Given the description of an element on the screen output the (x, y) to click on. 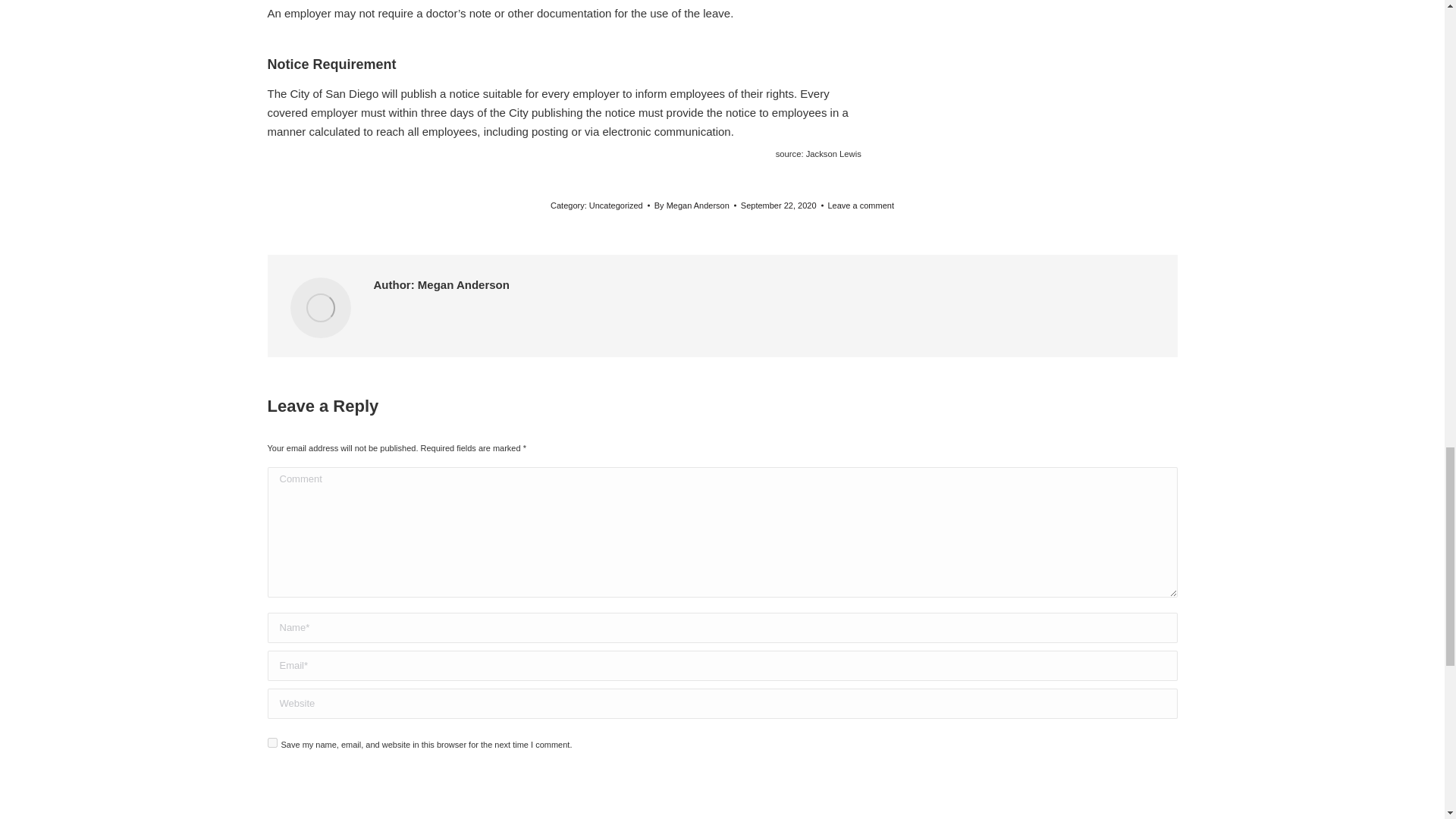
yes (271, 742)
